Given the description of an element on the screen output the (x, y) to click on. 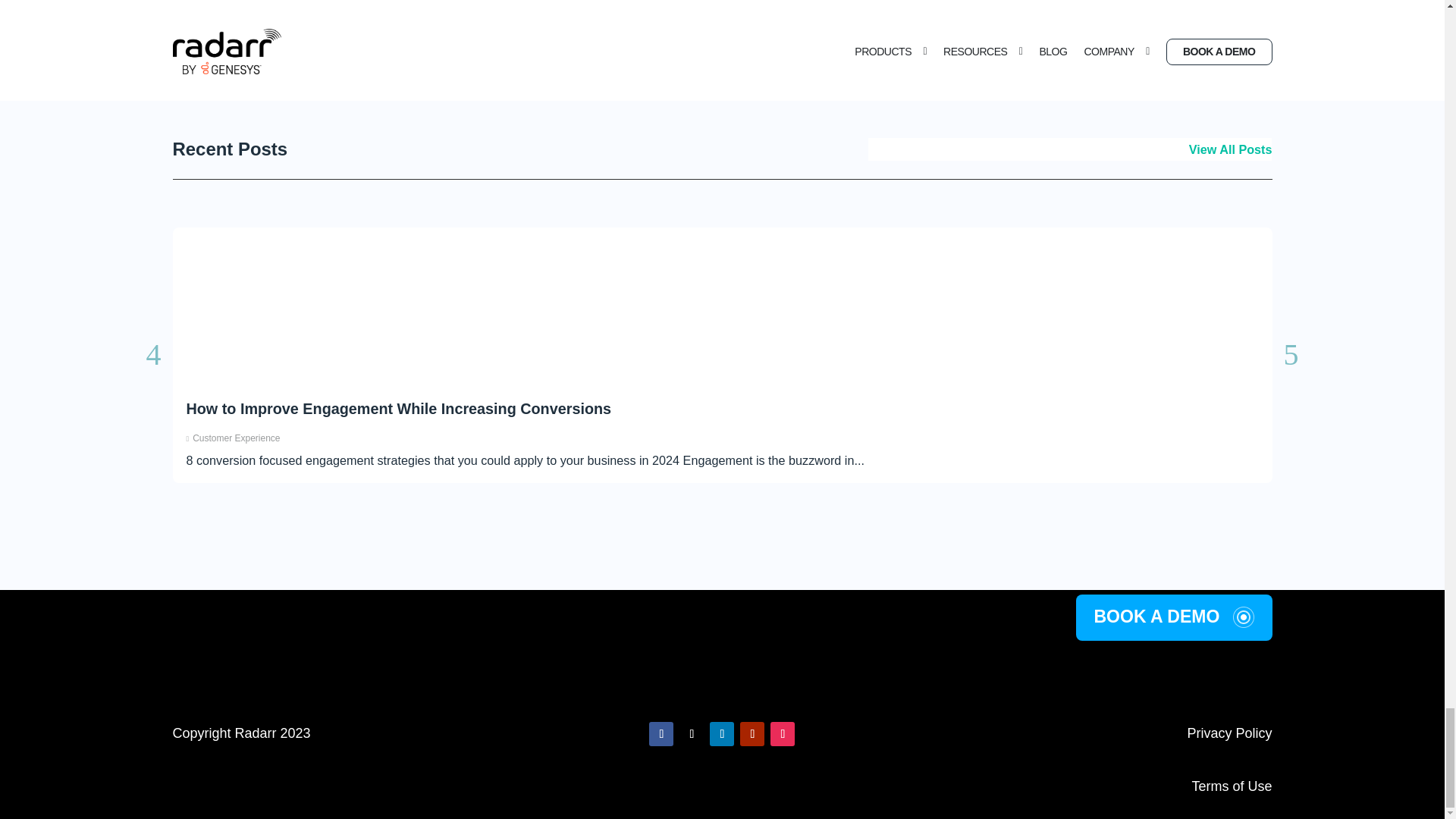
Follow on Facebook (660, 733)
Follow on X (691, 733)
Follow on Instagram (782, 733)
Follow on LinkedIn (721, 733)
Follow on Youtube (751, 733)
How to Improve Engagement While Increasing Conversions (398, 408)
radar-logo-white (722, 680)
